Given the description of an element on the screen output the (x, y) to click on. 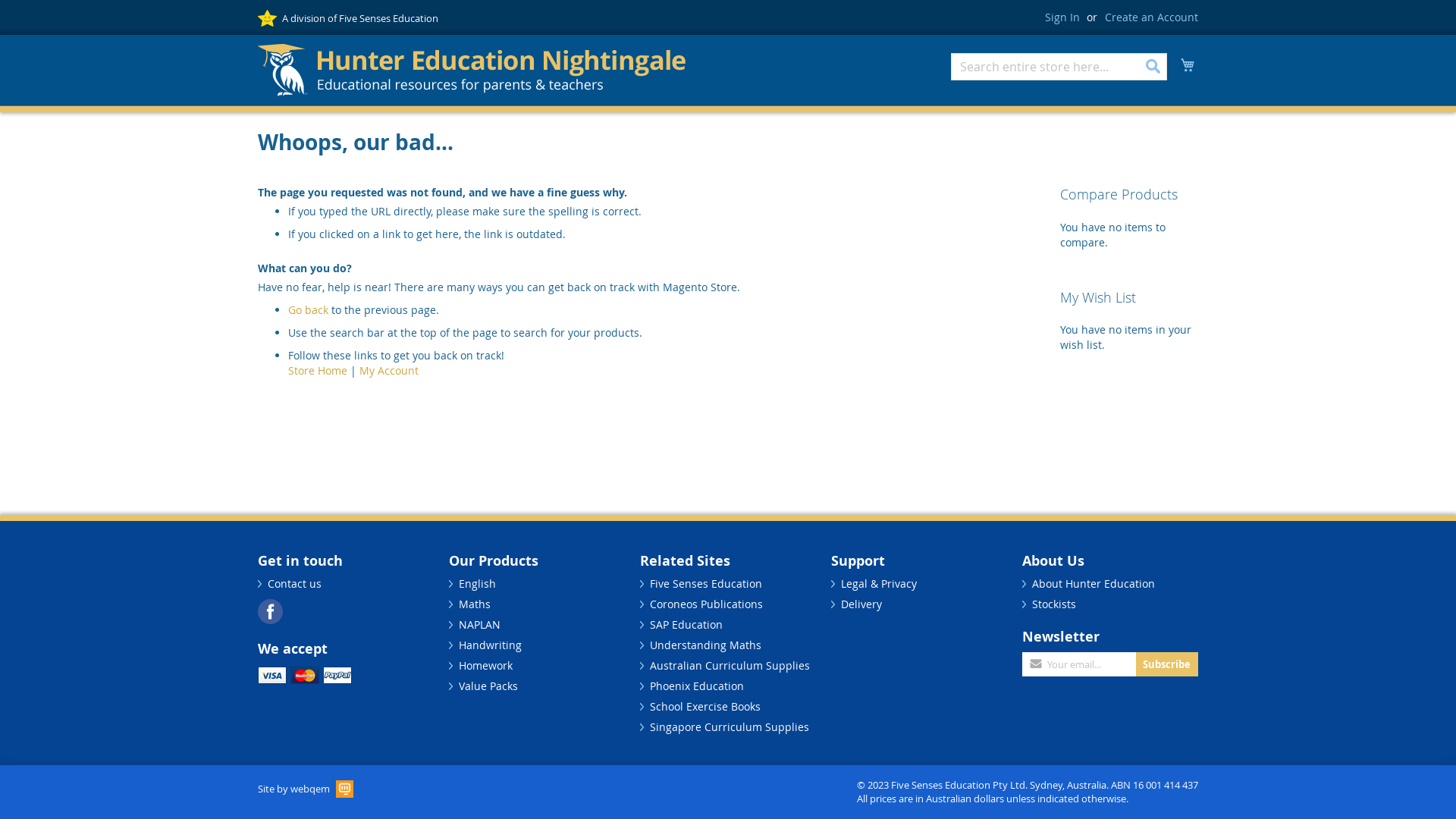
NAPLAN Element type: text (479, 624)
Sign In Element type: text (1061, 17)
My Account Element type: text (388, 370)
Delivery Element type: text (860, 603)
Subscribe Element type: text (1166, 664)
Value Packs Element type: text (487, 685)
Five Senses Education Element type: text (705, 583)
PayPal Element type: text (337, 675)
English Element type: text (476, 583)
Stockists Element type: text (1054, 603)
Homework Element type: text (485, 665)
About Hunter Education Element type: text (1093, 583)
16 001 414 437 Element type: text (1165, 784)
School Exercise Books Element type: text (704, 706)
Coroneos Publications Element type: text (705, 603)
Skip to Content Element type: text (257, 9)
Go back Element type: text (308, 309)
Singapore Curriculum Supplies Element type: text (729, 726)
Visa Element type: text (271, 675)
Search Element type: text (1152, 66)
Contact us Element type: text (294, 583)
Australian Curriculum Supplies Element type: text (729, 665)
Find us on facebook Element type: text (269, 611)
Handwriting Element type: text (489, 644)
Legal & Privacy Element type: text (878, 583)
Mastercard Element type: text (304, 675)
Store Home Element type: text (317, 370)
My Cart Element type: text (1187, 64)
Create an Account Element type: text (1151, 17)
Phoenix Education Element type: text (696, 685)
Maths Element type: text (474, 603)
Site by webqem Element type: text (305, 785)
SAP Education Element type: text (685, 624)
Understanding Maths Element type: text (705, 644)
